Given the description of an element on the screen output the (x, y) to click on. 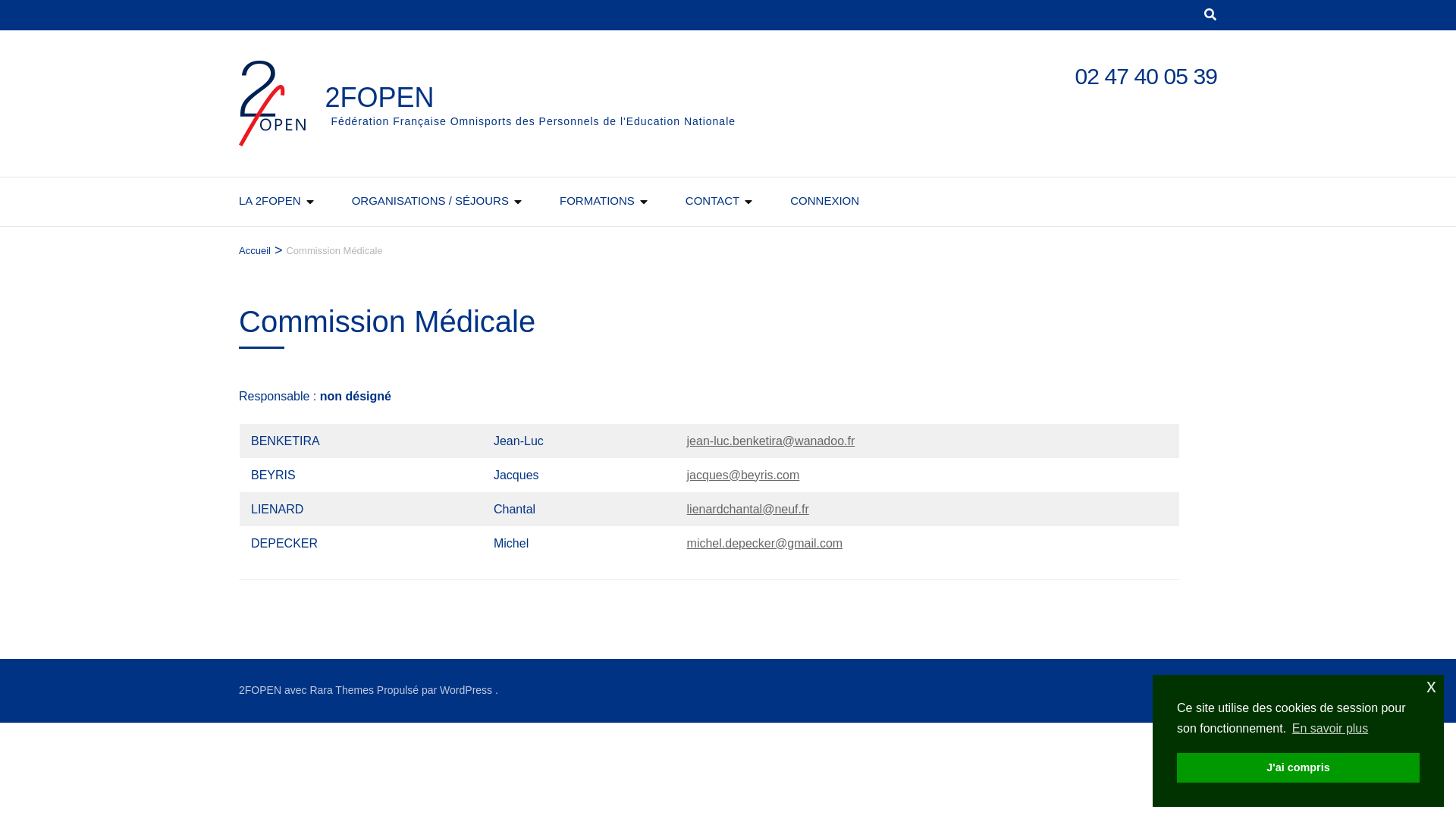
2FOPEN Element type: text (378, 96)
CONNEXION Element type: text (824, 201)
LA 2FOPEN Element type: text (269, 201)
FORMATIONS Element type: text (596, 201)
WordPress Element type: text (465, 690)
J'ai compris Element type: text (1297, 767)
lienardchantal@neuf.fr Element type: text (748, 508)
michel.depecker@gmail.com Element type: text (765, 542)
02 47 40 05 39 Element type: text (1145, 75)
En savoir plus Element type: text (1330, 728)
jacques@beyris.com Element type: text (743, 474)
Rara Themes Element type: text (341, 690)
jean-luc.benketira@wanadoo.fr Element type: text (771, 440)
CONTACT Element type: text (712, 201)
Accueil Element type: text (254, 250)
